Given the description of an element on the screen output the (x, y) to click on. 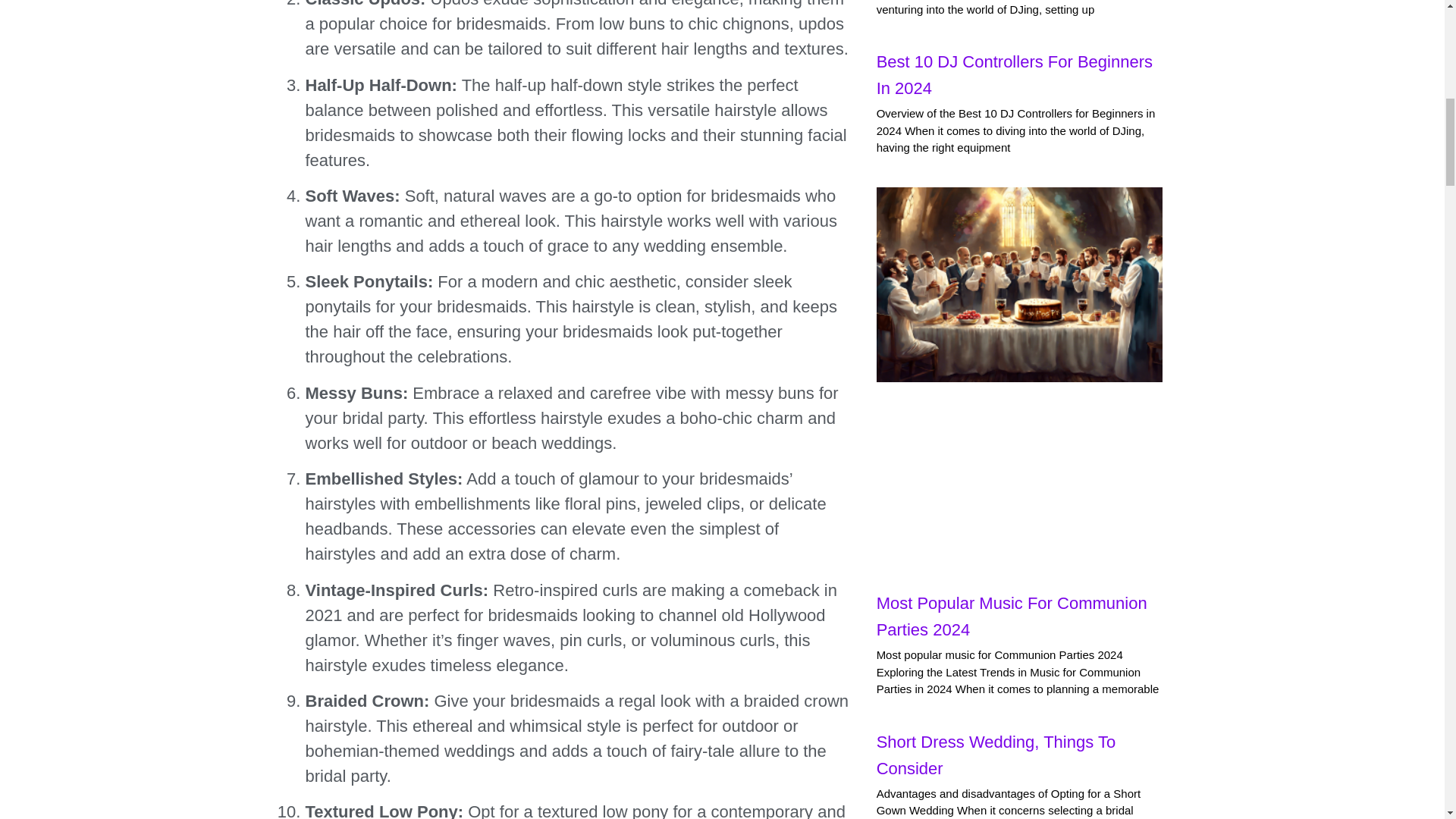
Most Popular Music For Communion Parties 2024 (1011, 616)
Best 10 DJ Controllers For Beginners In 2024 (1014, 74)
Short Dress Wedding, Things To Consider (996, 755)
